Given the description of an element on the screen output the (x, y) to click on. 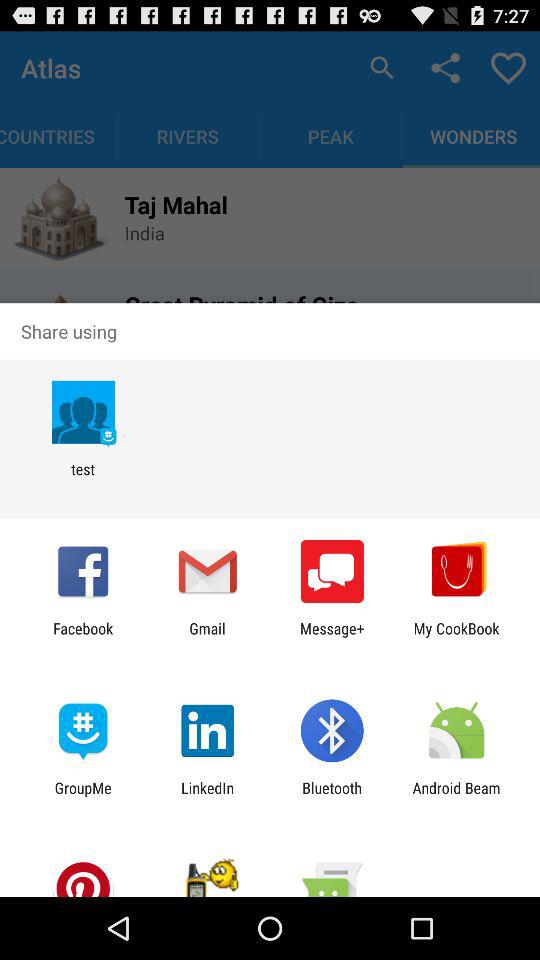
choose the app to the left of android beam (331, 796)
